Given the description of an element on the screen output the (x, y) to click on. 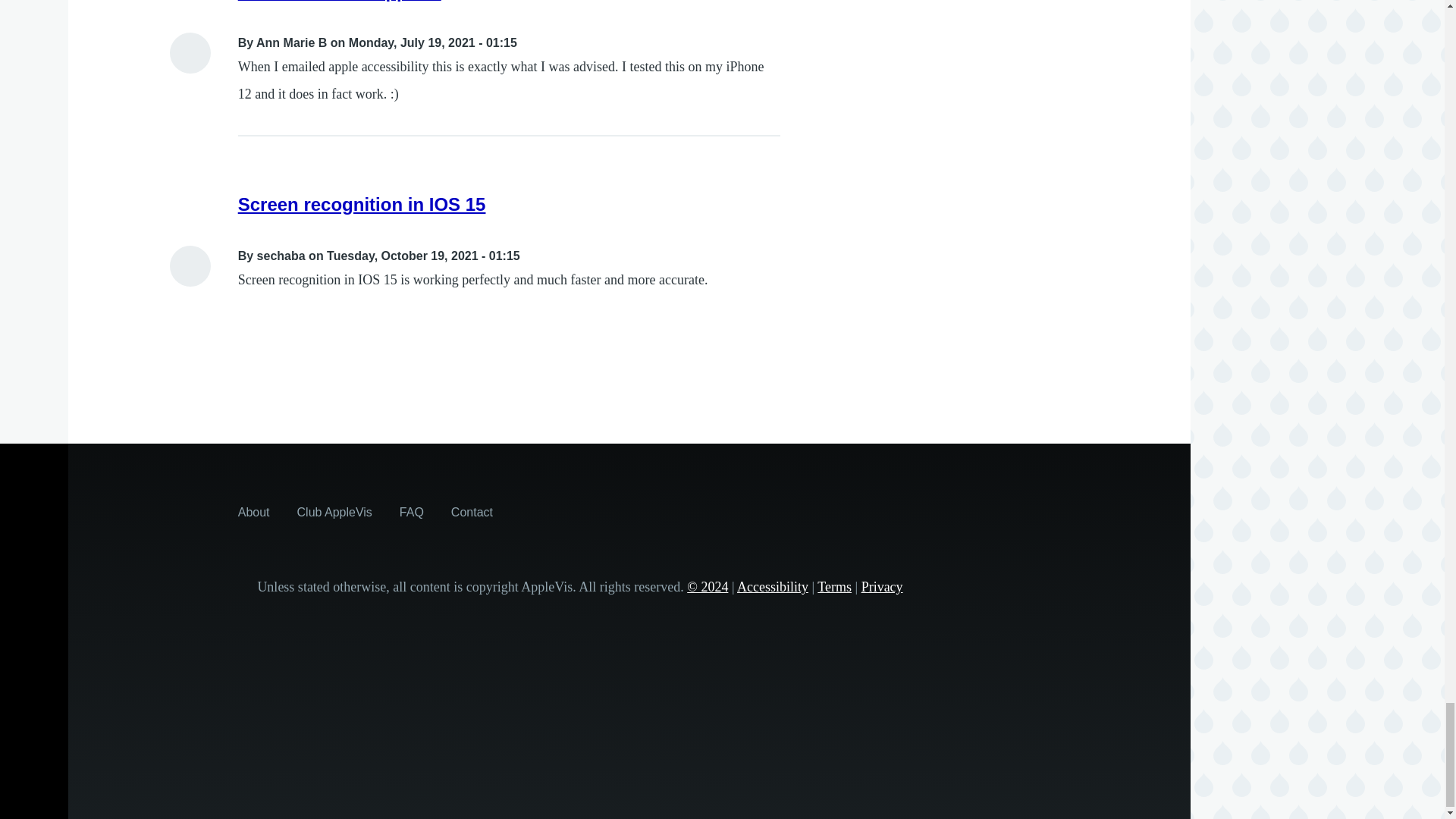
About (253, 511)
Answers to some frequently asked questions about AppleVis (410, 511)
